Given the description of an element on the screen output the (x, y) to click on. 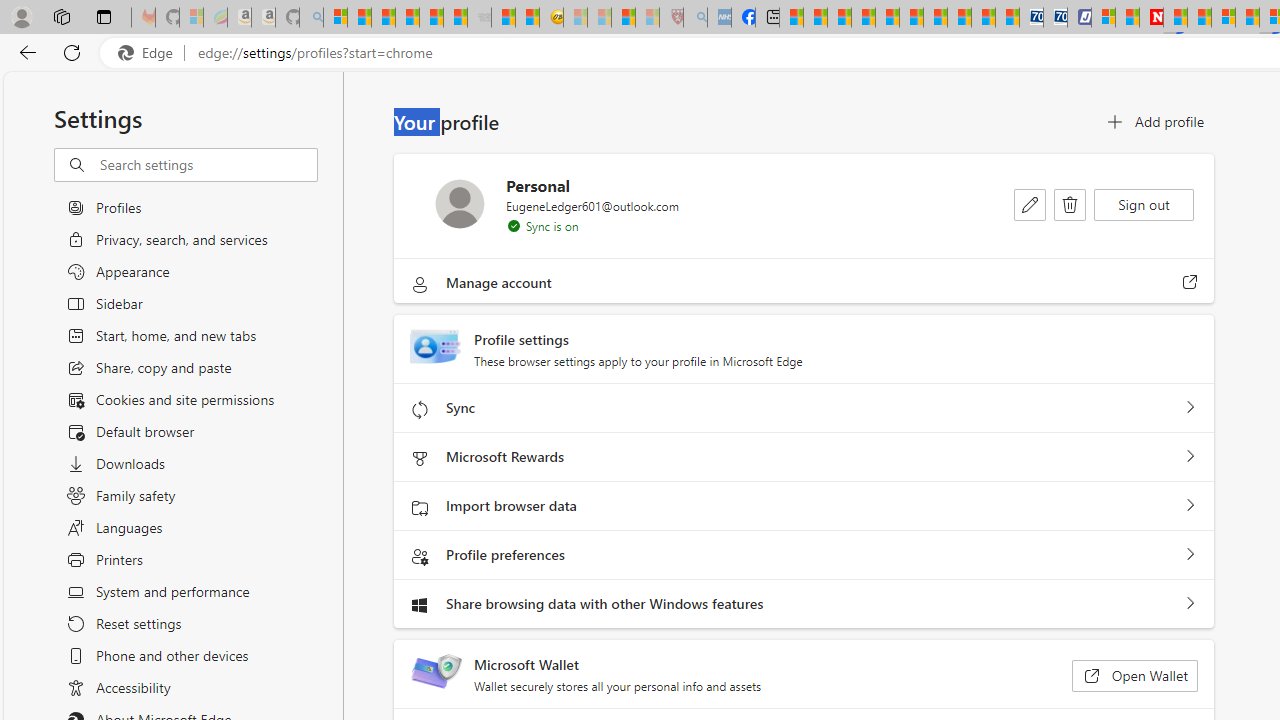
Cheap Hotels - Save70.com (1055, 17)
Delete (1069, 204)
Science - MSN (622, 17)
Share browsing data with other Windows features (1190, 604)
MSNBC - MSN (790, 17)
NCL Adult Asthma Inhaler Choice Guideline - Sleeping (718, 17)
New Report Confirms 2023 Was Record Hot | Watch (430, 17)
